Given the description of an element on the screen output the (x, y) to click on. 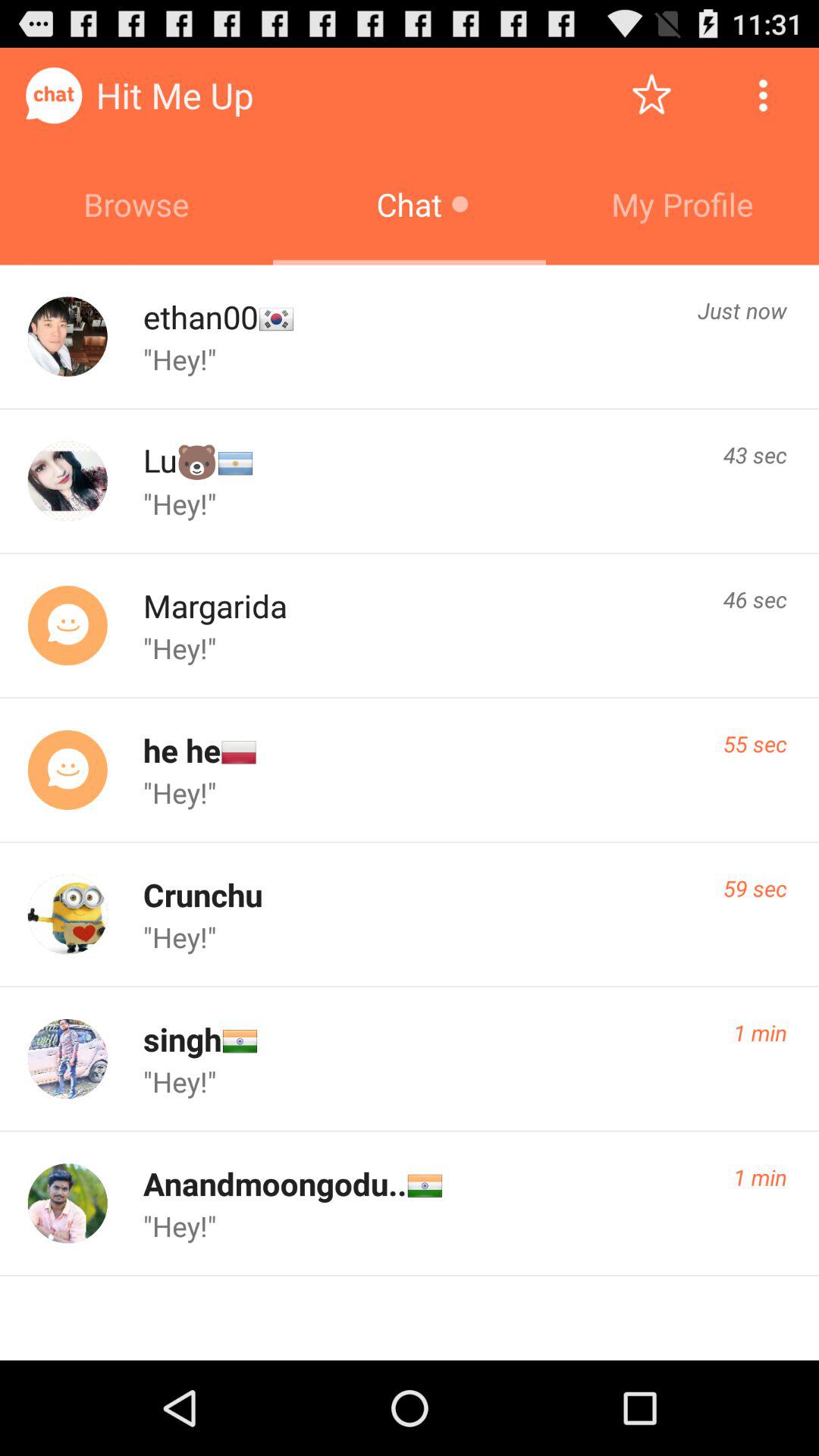
click the icon above "hey!" item (181, 749)
